Given the description of an element on the screen output the (x, y) to click on. 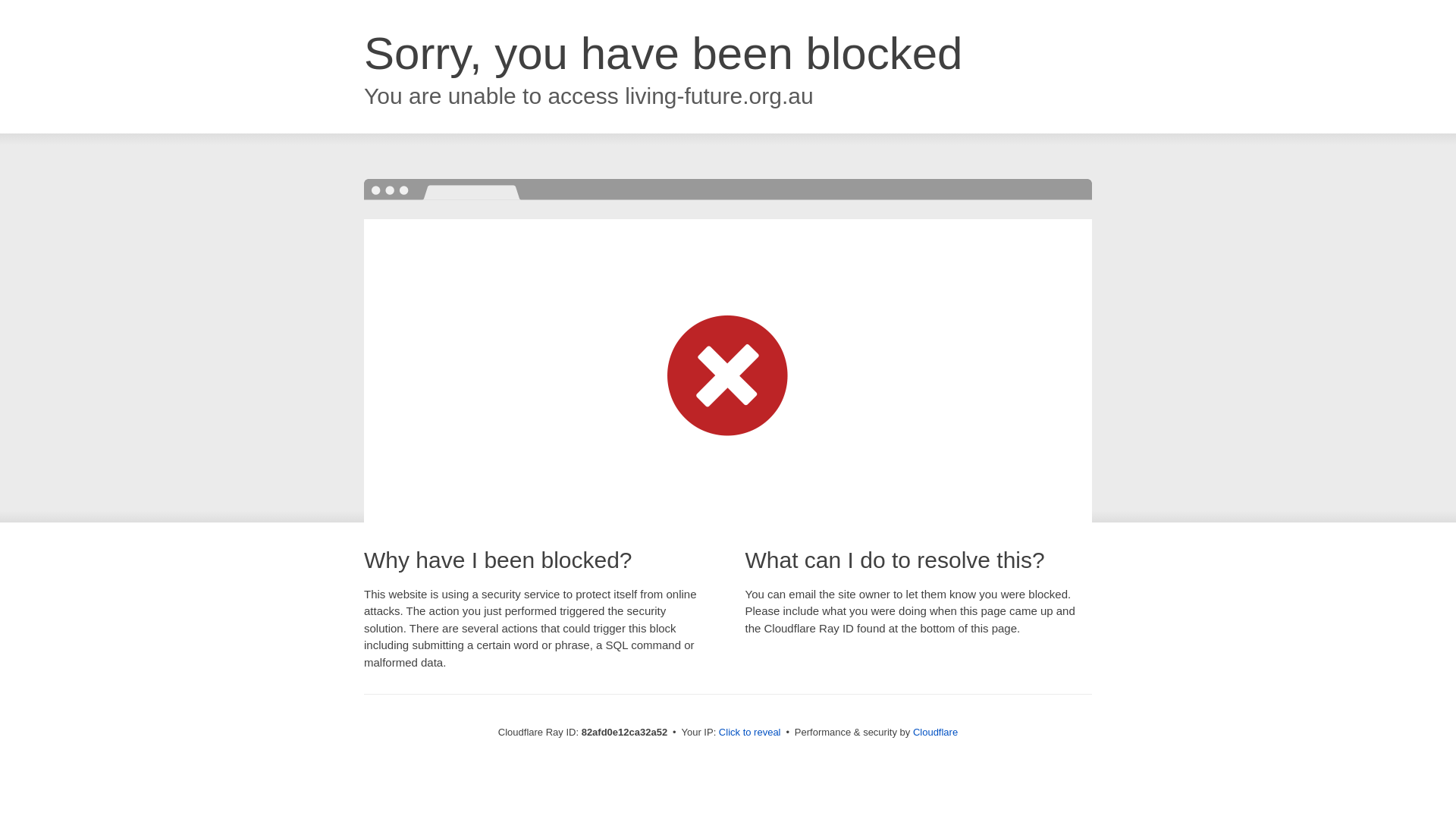
Cloudflare Element type: text (935, 731)
Click to reveal Element type: text (749, 732)
